Given the description of an element on the screen output the (x, y) to click on. 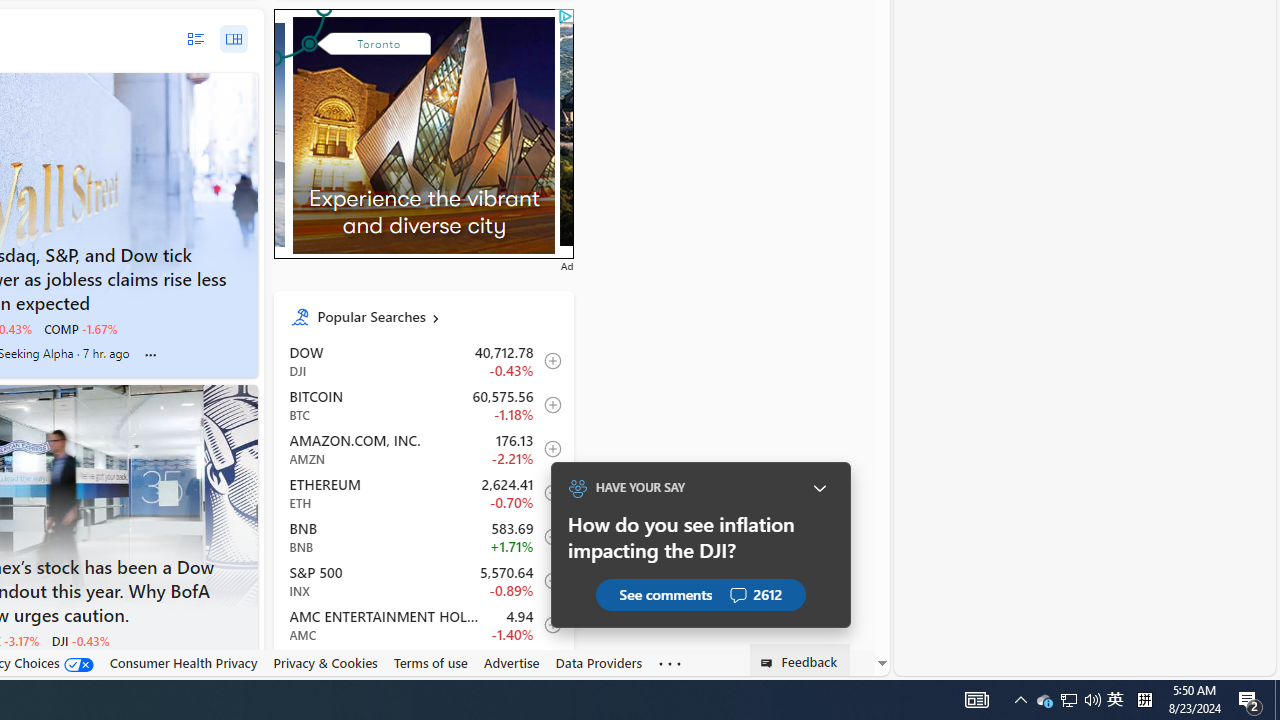
Popular Searches (437, 316)
AutomationID: bg3 (708, 134)
ETH Ethereum decrease 2,624.41 -18.32 -0.70% itemundefined (422, 492)
Data Providers (598, 662)
AutomationID: gradient2 (423, 130)
ADA Cardano increase 0.37 +0.00 +1.20% itemundefined (422, 669)
BTC Bitcoin decrease 60,575.56 -716.61 -1.18% itemundefined (422, 404)
list layout (194, 39)
grid layout (233, 39)
AutomationID: gradient3 (708, 134)
